Given the description of an element on the screen output the (x, y) to click on. 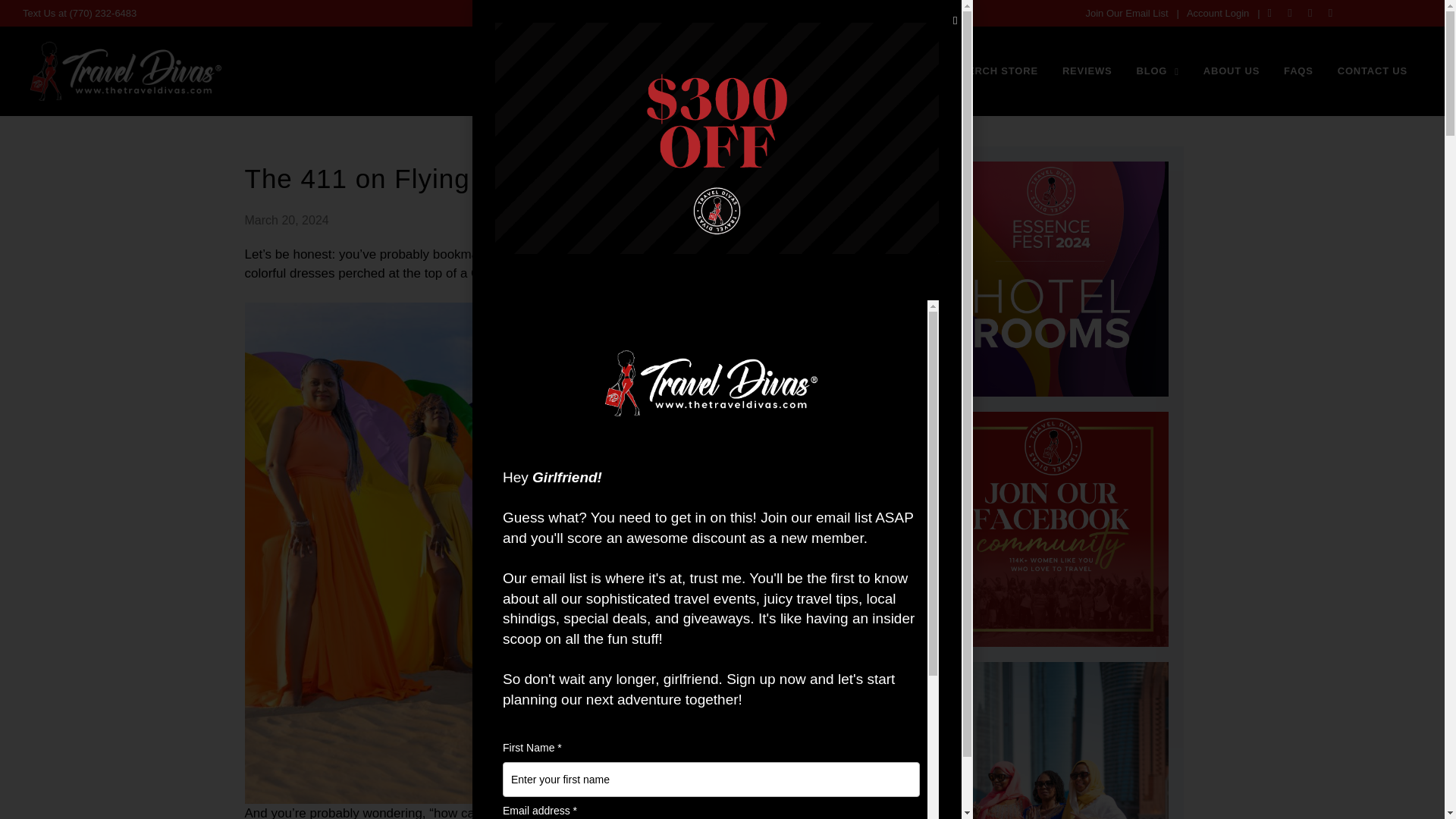
Account Login (1217, 12)
CONTACT US (1366, 26)
MERCH STORE (931, 26)
REVIEWS (1031, 26)
Join Our Email List (1125, 12)
GROUP TRIPS (812, 26)
BLOG (1114, 26)
ABOUT US (1200, 26)
HOME (715, 26)
FAQS (1279, 26)
